Given the description of an element on the screen output the (x, y) to click on. 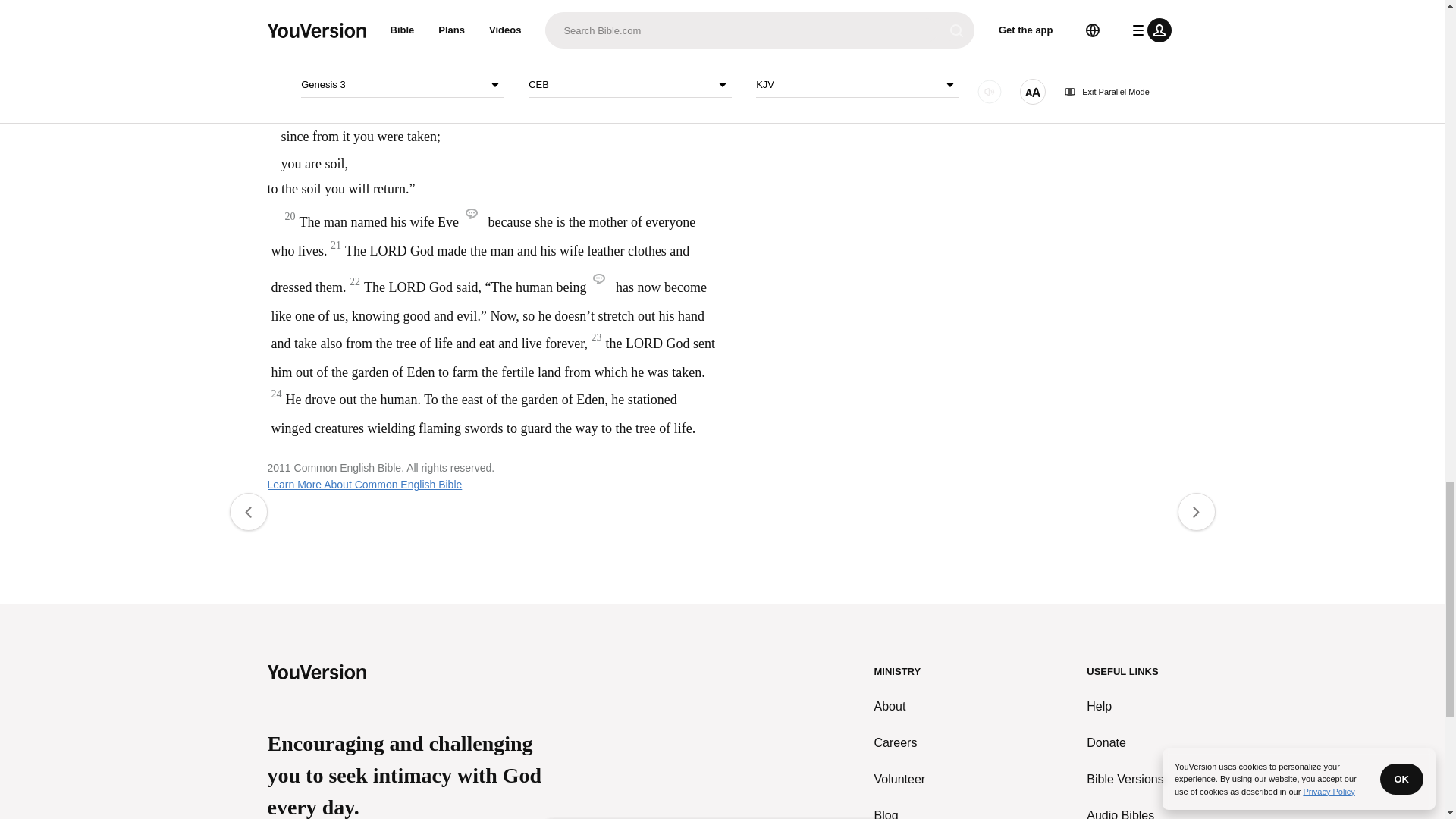
Bible Versions (1131, 779)
Careers (900, 742)
Blog (900, 812)
Volunteer (900, 779)
Learn More About Common English Bible (363, 484)
Help (1131, 706)
Donate (1131, 742)
About (900, 706)
Audio Bibles (1131, 812)
